Given the description of an element on the screen output the (x, y) to click on. 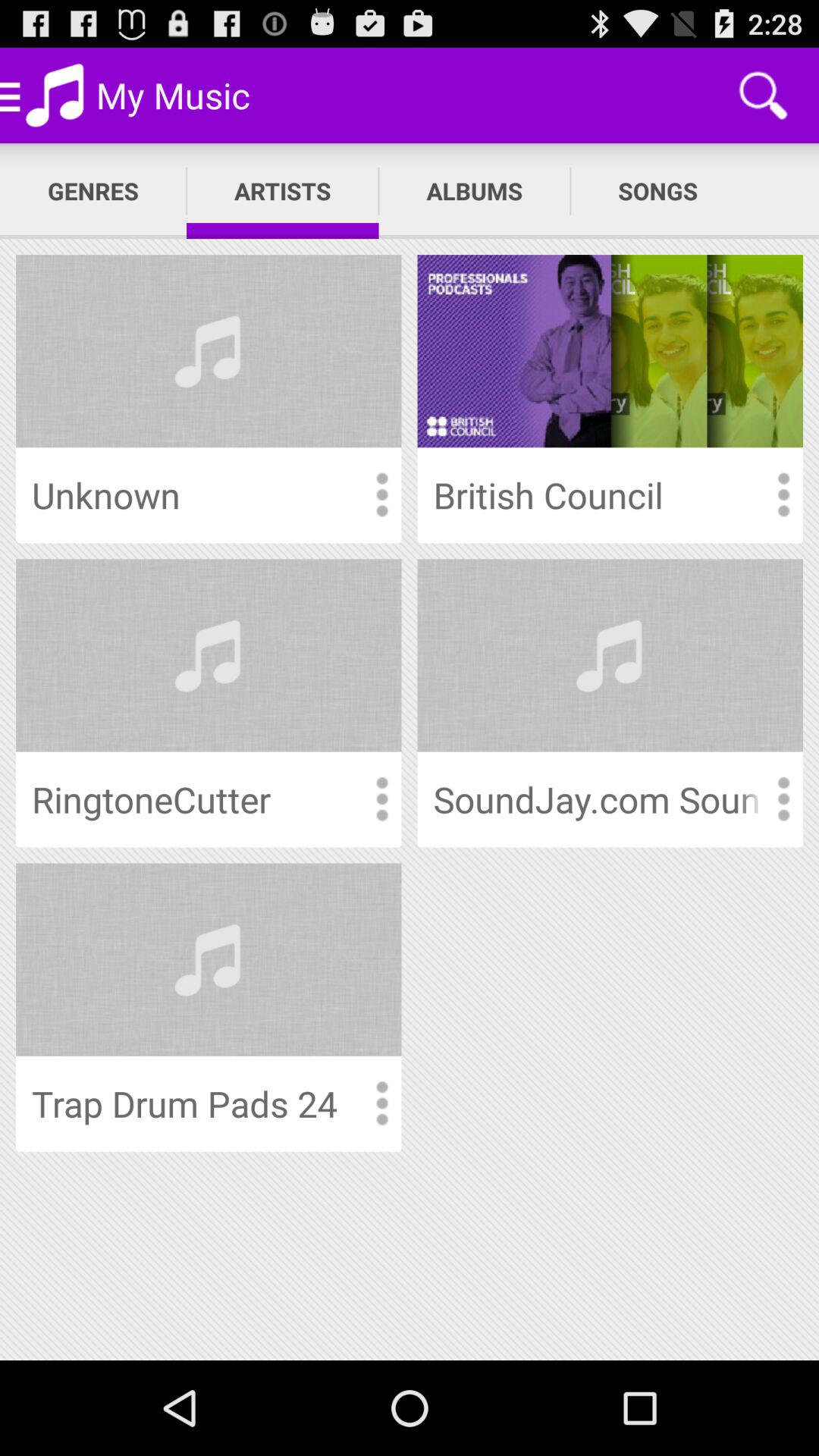
open menu for selected item (783, 799)
